Given the description of an element on the screen output the (x, y) to click on. 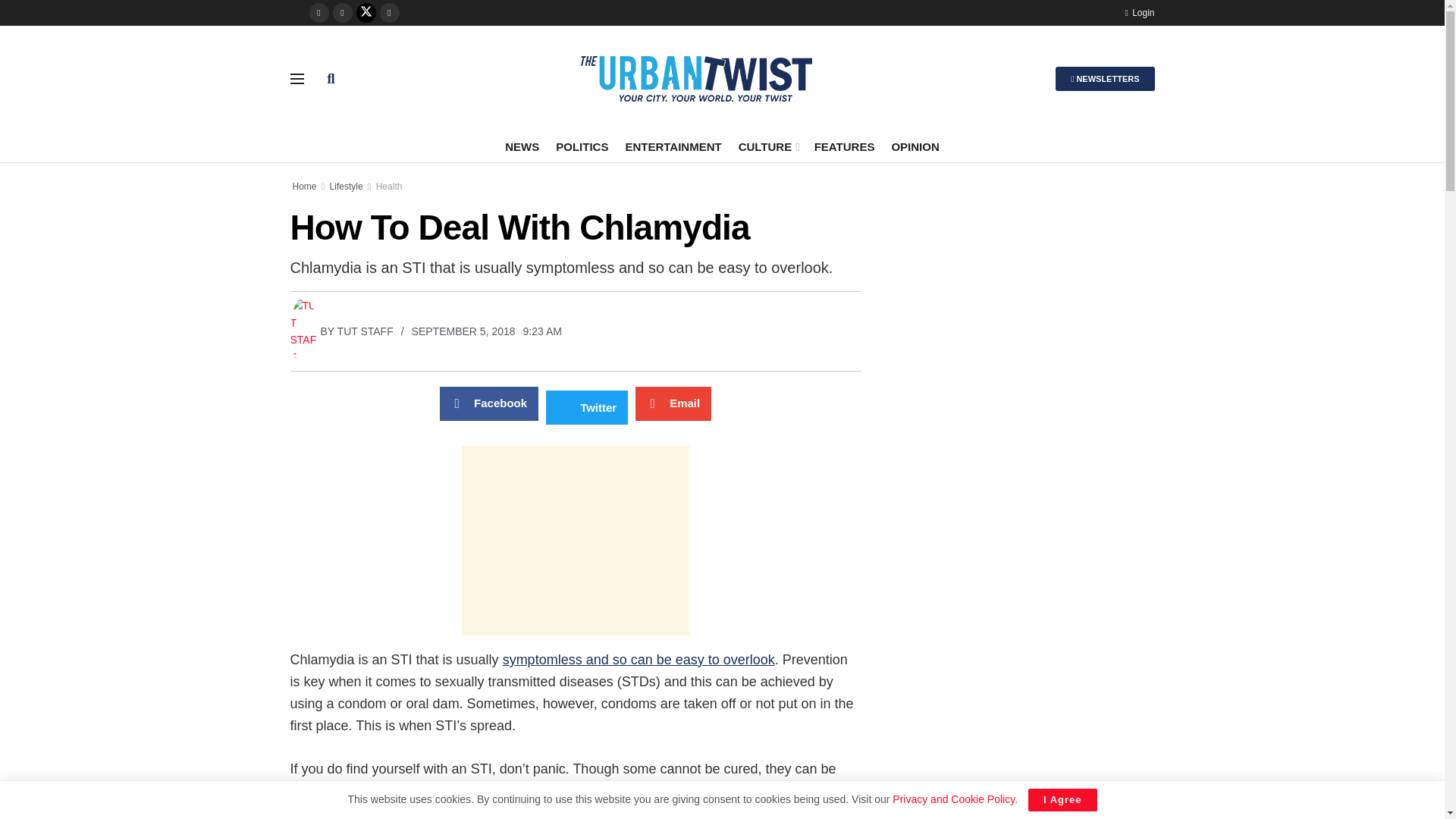
Health (389, 185)
POLITICS (582, 146)
ENTERTAINMENT (672, 146)
Advertisement (574, 540)
symptomless and so can be easy to overlook (638, 659)
CULTURE (767, 146)
NEWS (521, 146)
NEWSLETTERS (1104, 78)
FEATURES (844, 146)
BY TUT STAFF (341, 331)
OPINION (915, 146)
Lifestyle (346, 185)
Home (304, 185)
Login (1139, 12)
